Given the description of an element on the screen output the (x, y) to click on. 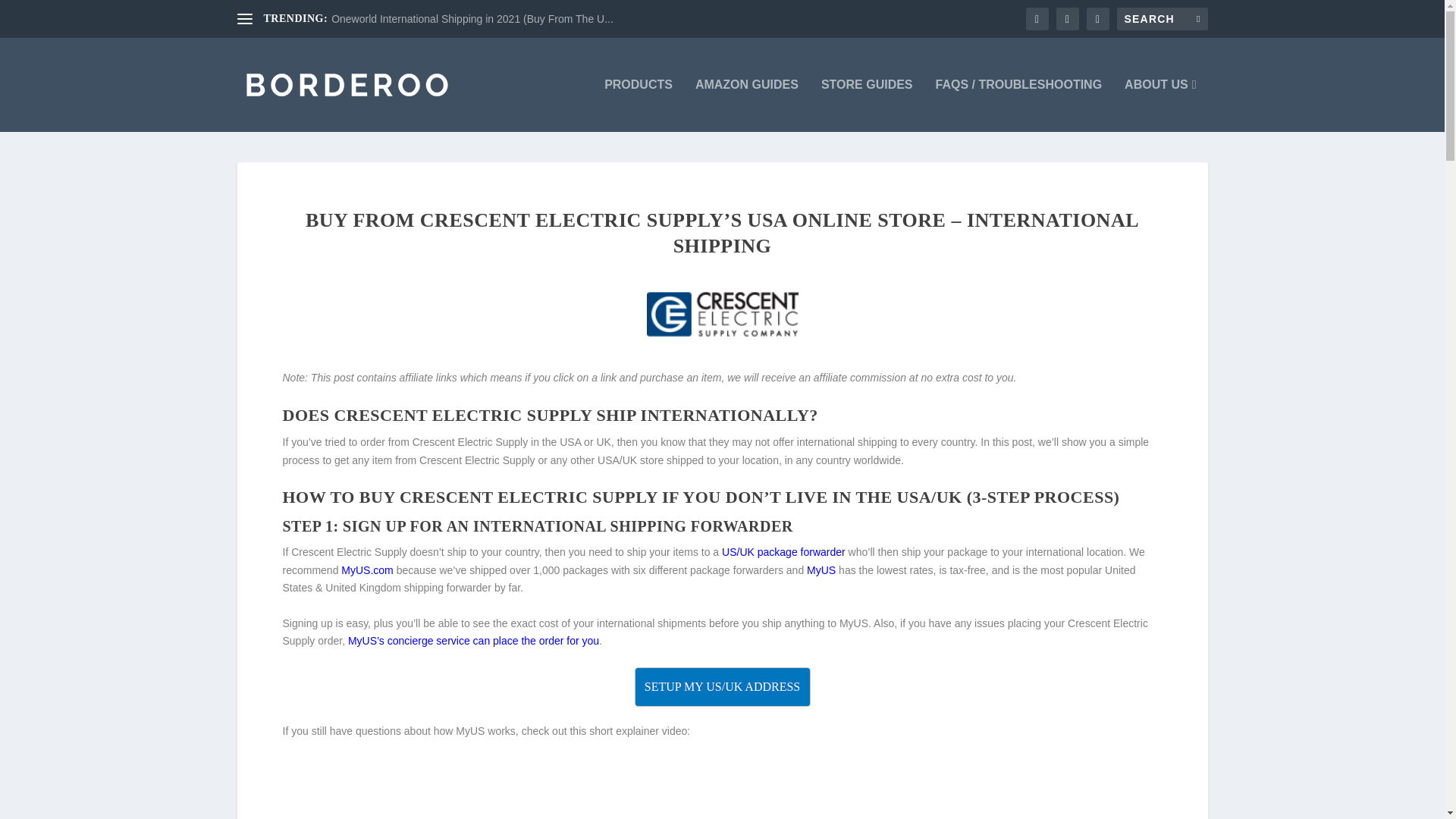
MyUS (820, 570)
Search for: (1161, 18)
ABOUT US (1159, 104)
STORE GUIDES (866, 104)
AMAZON GUIDES (746, 104)
MyUS.com (366, 570)
PRODUCTS (638, 104)
MyUS.com: How it Works (691, 788)
